Given the description of an element on the screen output the (x, y) to click on. 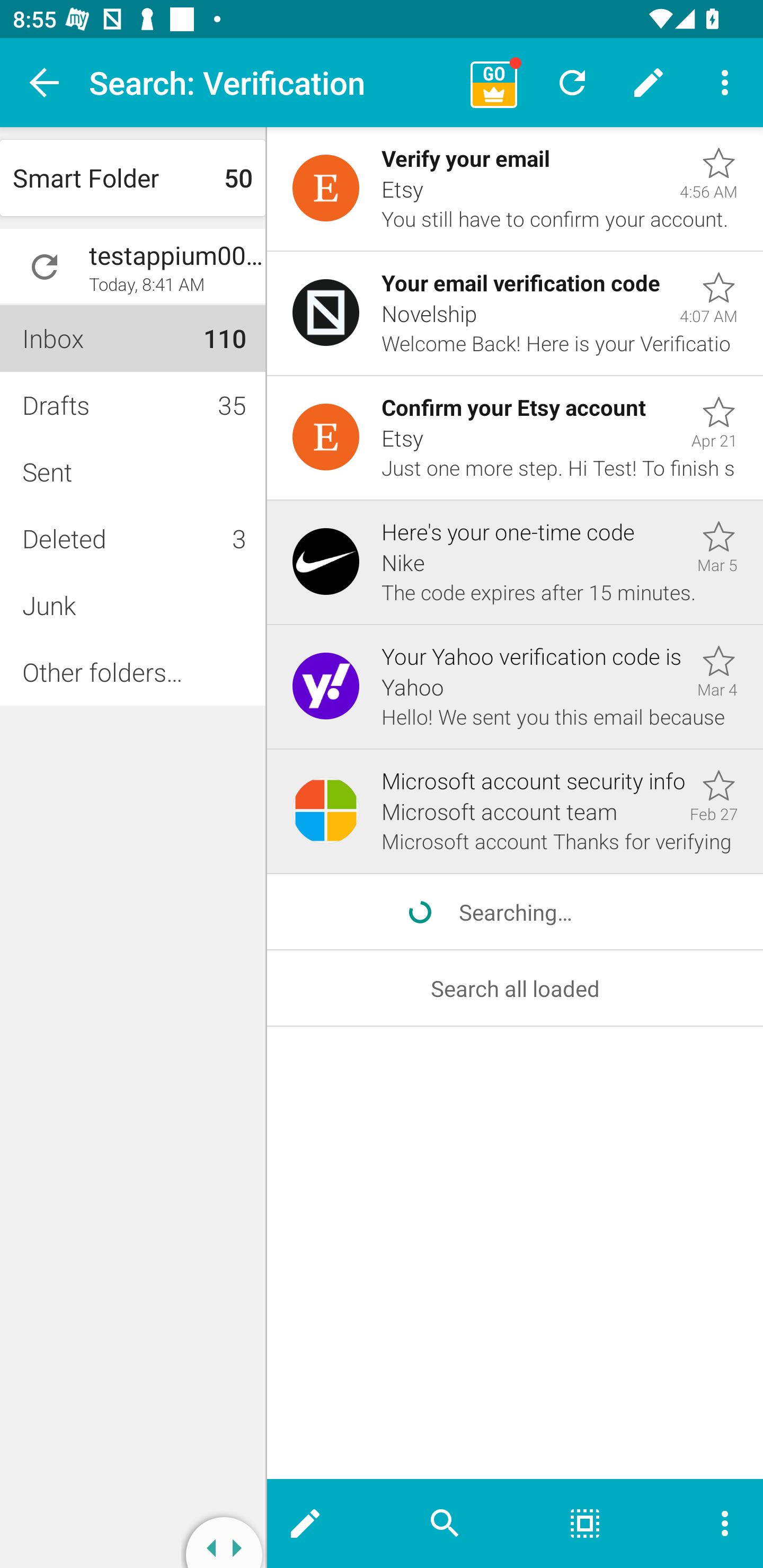
Navigate up (44, 82)
Refresh all (572, 82)
New message (648, 82)
More options (724, 81)
Smart Folder 50 50 unread, 50 total messages (132, 177)
Refresh account (44, 266)
Sent Folder: Sent 24 total messages (132, 471)
Deleted Folder: Deleted 3 3 total messages (132, 538)
Junk Folder: Junk 0 total messages (132, 605)
Other folders… (132, 671)
Searching… (515, 911)
Search all loaded (515, 988)
New message (321, 1523)
Search (445, 1523)
Select all (584, 1523)
More options (708, 1522)
